Given the description of an element on the screen output the (x, y) to click on. 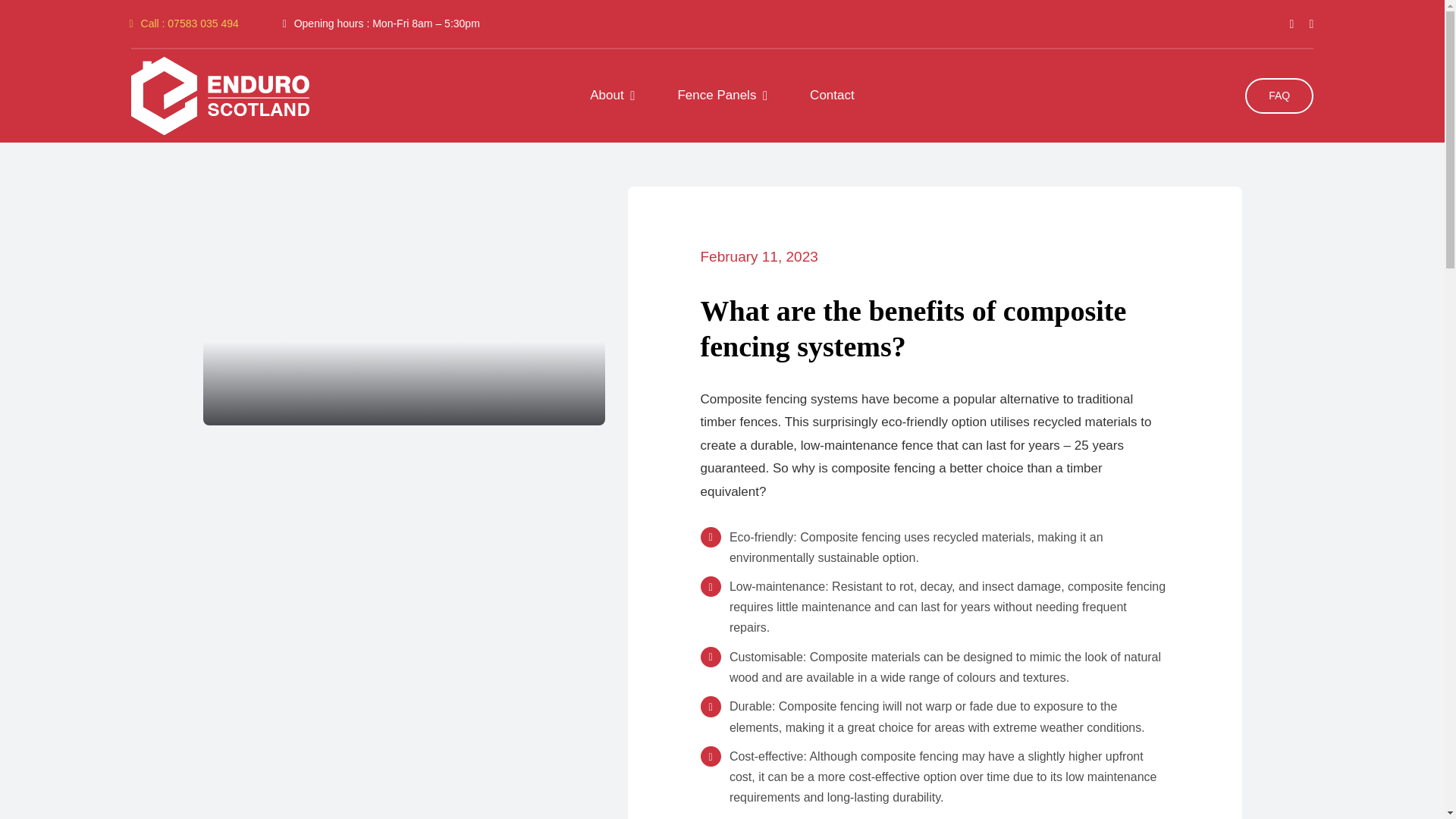
About (612, 95)
Call : 07583 035 494 (183, 23)
Fence Panels (721, 95)
Contact (832, 95)
FAQ (1278, 95)
